Given the description of an element on the screen output the (x, y) to click on. 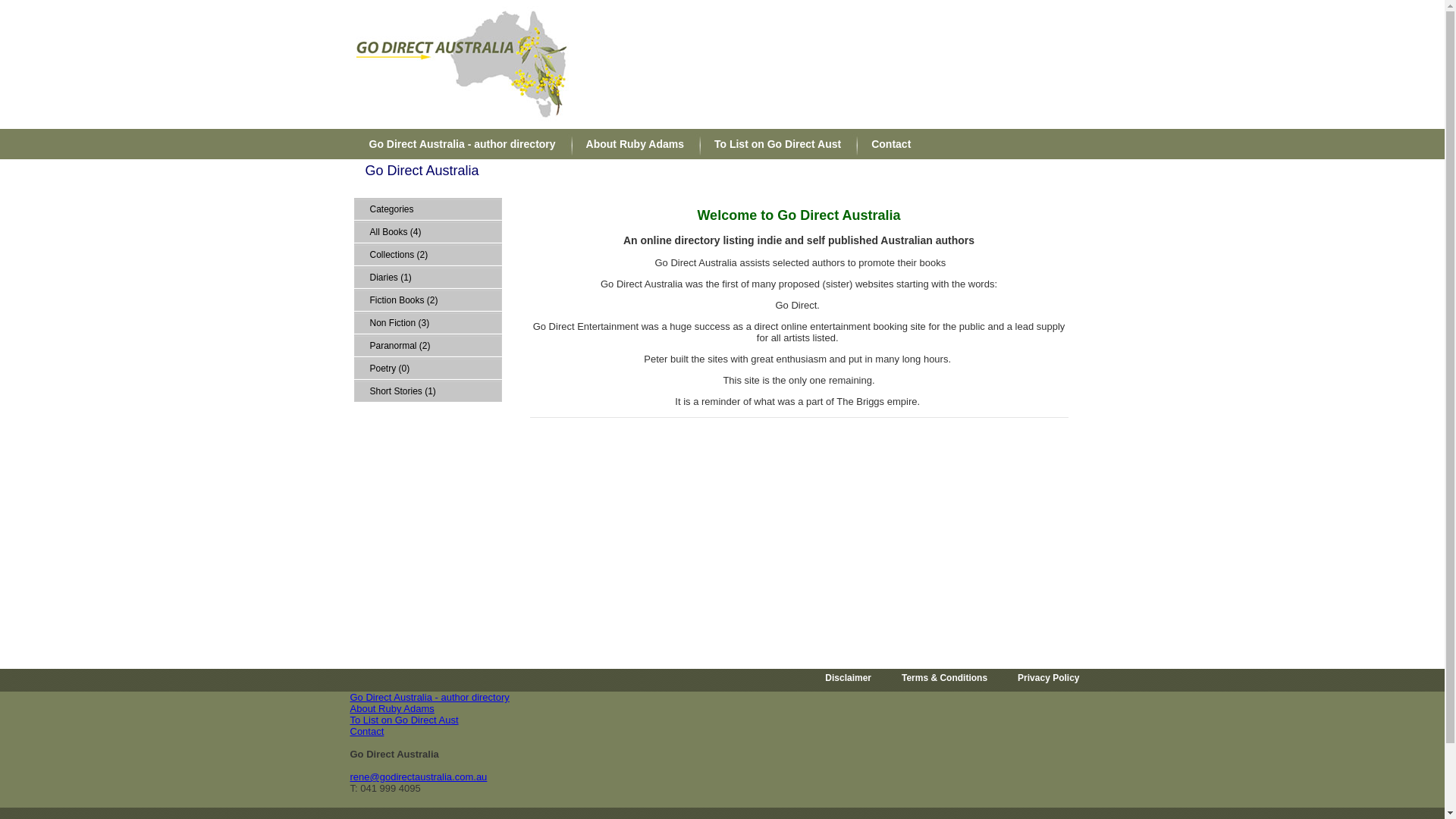
Collections (2) Element type: text (427, 254)
Go Direct Australia - author directory Element type: text (429, 696)
Contact Element type: text (367, 731)
To List on Go Direct Aust Element type: text (404, 719)
To List on Go Direct Aust Element type: text (773, 143)
About Ruby Adams Element type: text (631, 143)
Diaries (1) Element type: text (427, 277)
Short Stories (1) Element type: text (427, 391)
Disclaimer Element type: text (847, 677)
Categories Element type: text (427, 209)
Non Fiction (3) Element type: text (427, 323)
Terms & Conditions Element type: text (944, 677)
All Books (4) Element type: text (427, 232)
Fiction Books (2) Element type: text (427, 300)
Go Direct Australia - author directory Element type: text (458, 143)
Poetry (0) Element type: text (427, 368)
Contact Element type: text (887, 143)
rene@godirectaustralia.com.au Element type: text (418, 776)
Privacy Policy Element type: text (1048, 677)
About Ruby Adams Element type: text (392, 708)
Paranormal (2) Element type: text (427, 345)
